Given the description of an element on the screen output the (x, y) to click on. 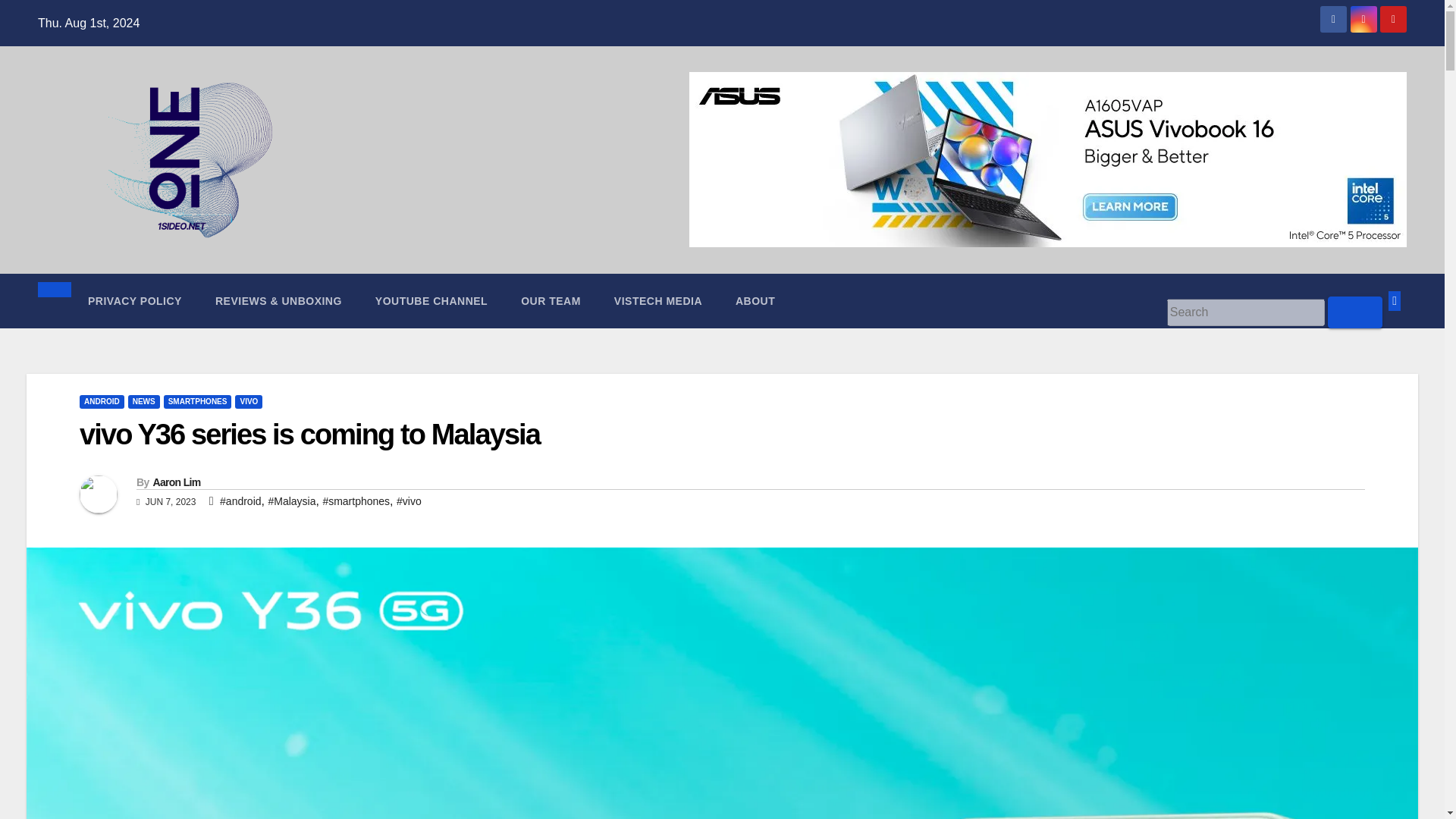
YOUTUBE CHANNEL (430, 300)
Privacy Policy (134, 300)
ANDROID (101, 401)
Permalink to: vivo Y36 series is coming to Malaysia (310, 434)
SMARTPHONES (197, 401)
Vistech Media (657, 300)
ABOUT (755, 300)
VISTECH MEDIA (657, 300)
PRIVACY POLICY (134, 300)
About (755, 300)
vivo Y36 series is coming to Malaysia (310, 434)
NEWS (144, 401)
Aaron Lim (176, 481)
YouTube Channel (430, 300)
VIVO (248, 401)
